Given the description of an element on the screen output the (x, y) to click on. 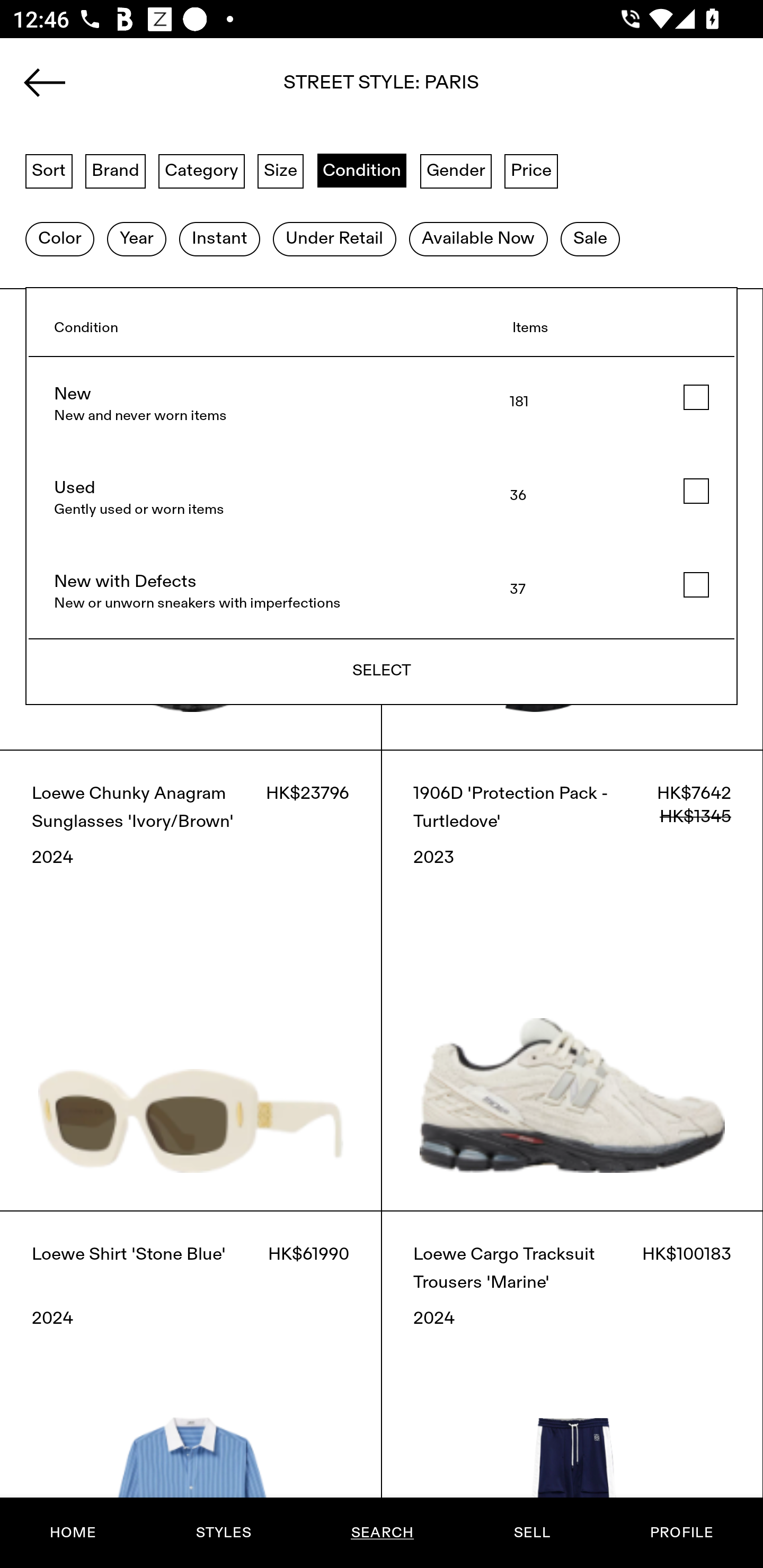
Search (381, 88)
Sort (48, 170)
Brand (115, 170)
Category (201, 170)
Size (280, 170)
Condition (361, 170)
Gender (455, 170)
Price (530, 170)
Color (59, 239)
Year (136, 239)
Instant (219, 239)
Under Retail (334, 239)
Available Now (477, 239)
Sale (589, 239)
New New and never worn items 181 (381, 404)
Used Gently used or worn items 36 (381, 497)
SELECT (381, 670)
Loewe Shirt 'Stone Blue' HK$61990 2024 (190, 1389)
HOME (72, 1532)
STYLES (222, 1532)
SEARCH (381, 1532)
SELL (531, 1532)
PROFILE (681, 1532)
